Given the description of an element on the screen output the (x, y) to click on. 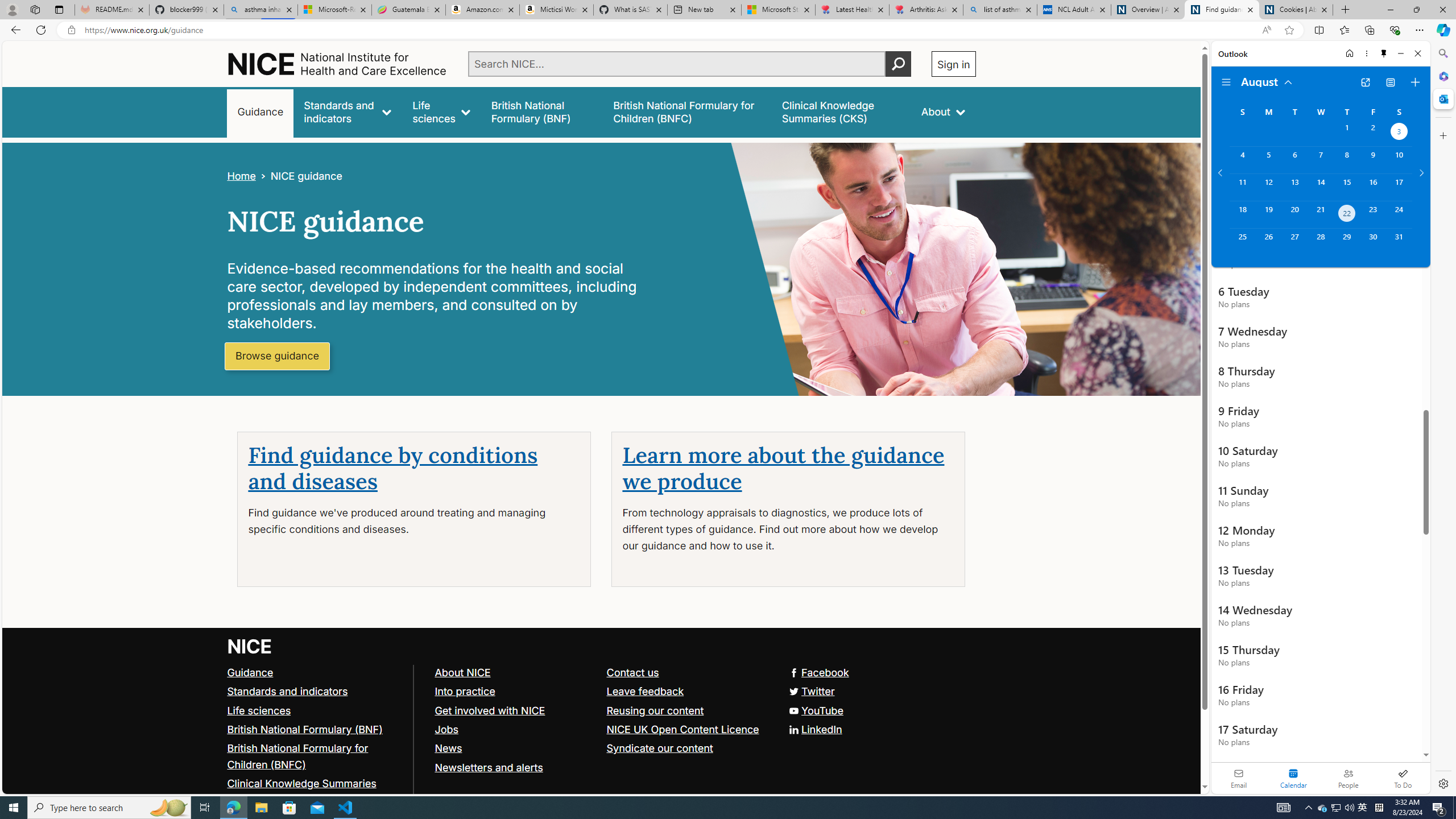
Tuesday, August 20, 2024.  (1294, 214)
NICE UK Open Content Licence (686, 729)
Find guidance by conditions and diseases (392, 468)
Get involved with NICE (489, 710)
Email (1238, 777)
Saturday, August 3, 2024. Date selected.  (1399, 132)
Monday, August 26, 2024.  (1268, 241)
